Given the description of an element on the screen output the (x, y) to click on. 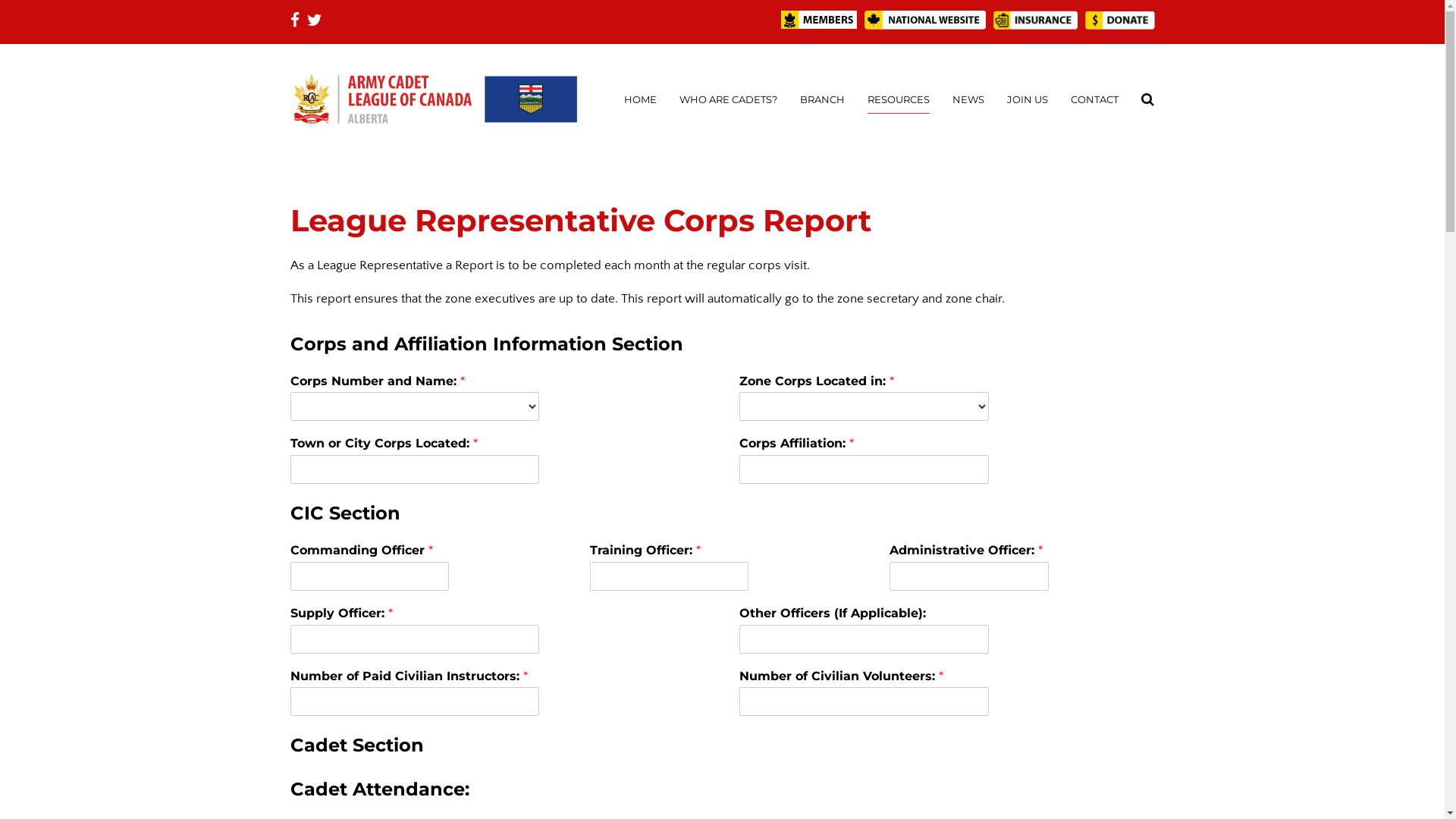
BRANCH Element type: text (821, 98)
CONTACT Element type: text (1094, 98)
WHO ARE CADETS? Element type: text (728, 98)
RESOURCES Element type: text (898, 98)
NEWS Element type: text (968, 98)
HOME Element type: text (639, 98)
JOIN US Element type: text (1027, 98)
